Given the description of an element on the screen output the (x, y) to click on. 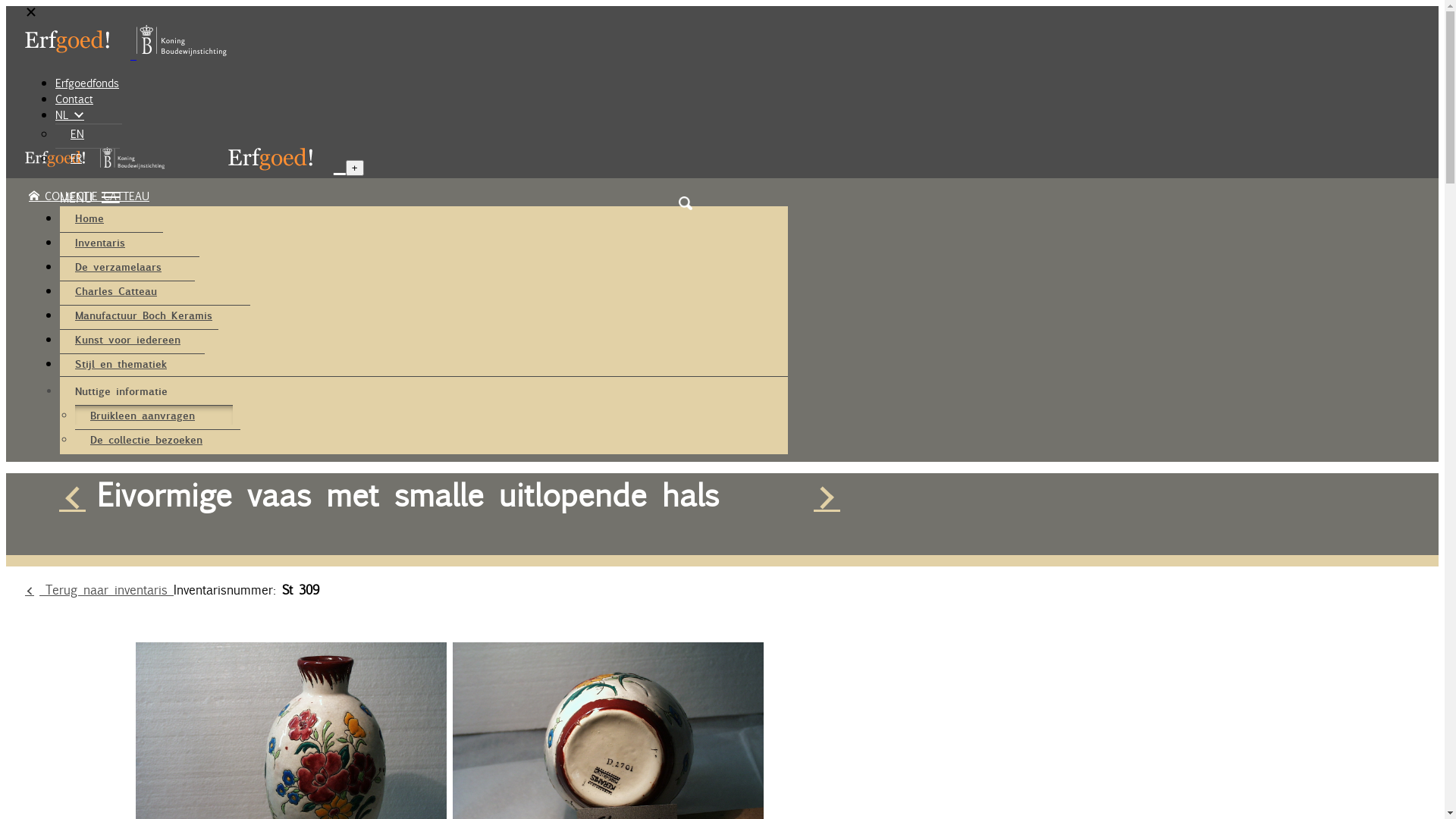
Contact Element type: text (74, 98)
De verzamelaars Element type: text (129, 266)
Charles Catteau Element type: text (126, 290)
Manufactuur Boch Keramis Element type: text (154, 314)
MENU Element type: text (423, 197)
Erfgoedfonds Element type: text (87, 82)
Terug naar inventaris Element type: text (99, 589)
FR Element type: text (87, 157)
NL Element type: text (69, 114)
Kunst voor iedereen Element type: text (138, 338)
Stijl en thematiek Element type: text (131, 363)
Home Element type: text (100, 217)
De collectie bezoeken Element type: text (157, 438)
EN Element type: text (88, 133)
+ Element type: text (354, 167)
Zoeken Element type: text (685, 203)
Inventaris Element type: text (111, 241)
Bruikleen aanvragen Element type: text (153, 414)
COLLECTIE CATTEAU Element type: text (88, 195)
